Given the description of an element on the screen output the (x, y) to click on. 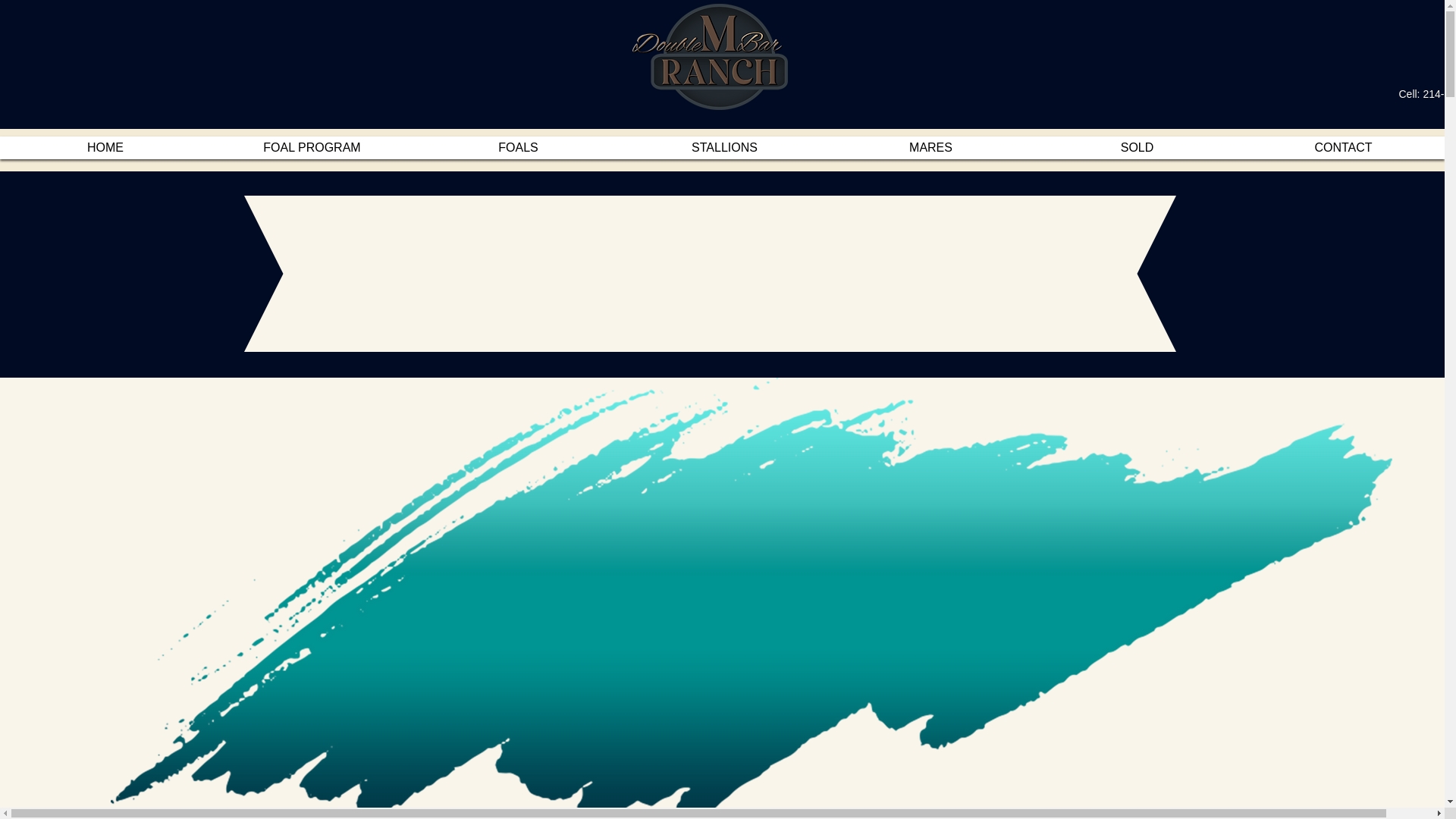
HOME (105, 147)
CONTACT (1342, 147)
FOAL PROGRAM (312, 147)
SOLD (1137, 147)
